Given the description of an element on the screen output the (x, y) to click on. 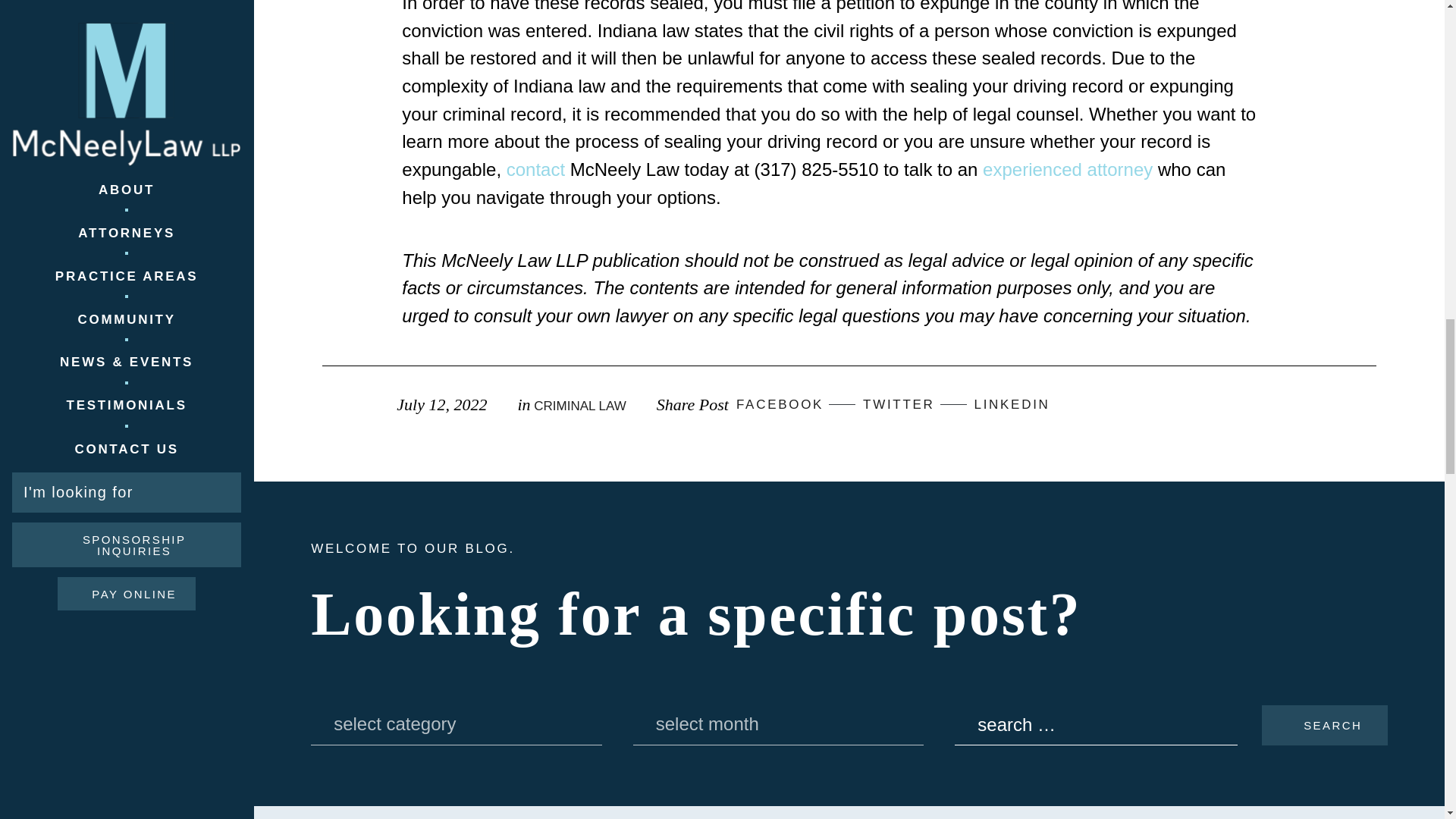
contact (535, 168)
Search (1324, 725)
experienced attorney (1067, 168)
Search (1324, 725)
